Given the description of an element on the screen output the (x, y) to click on. 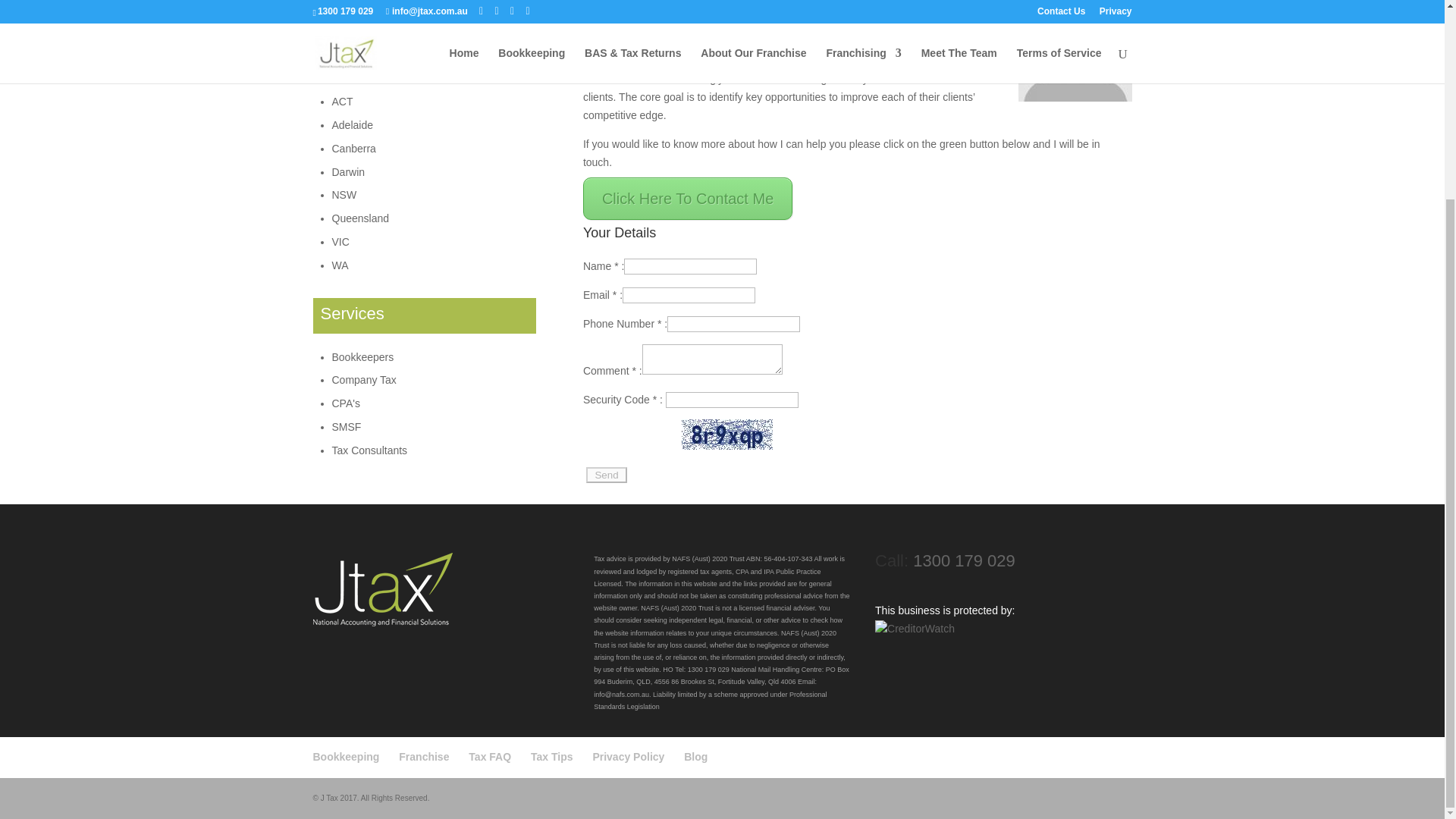
 Send  (606, 474)
Canberra (353, 148)
Click Here To Contact Me (687, 198)
Darwin (348, 172)
 Send  (606, 474)
Adelaide (352, 124)
NSW (343, 194)
ACT (342, 101)
